Given the description of an element on the screen output the (x, y) to click on. 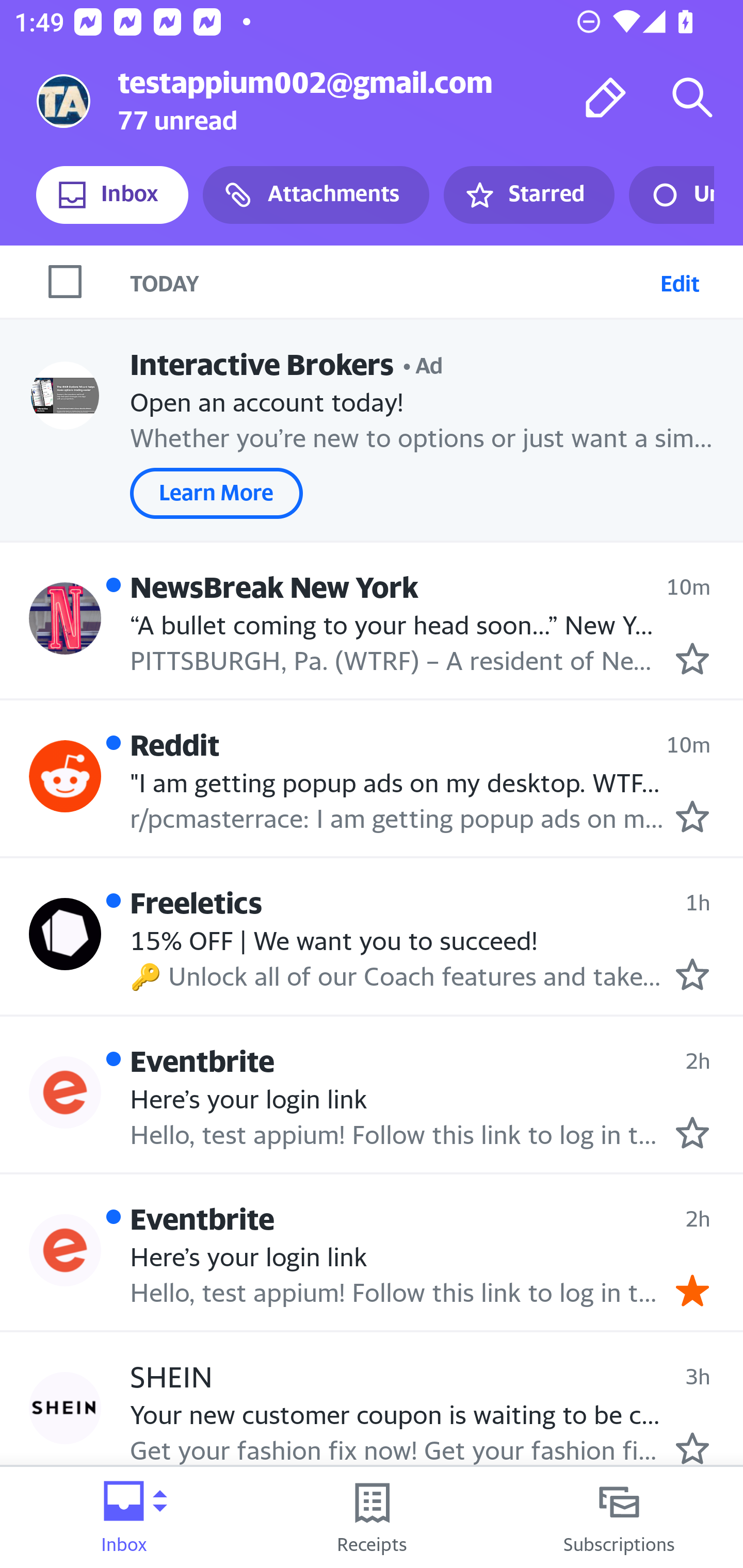
Compose (605, 97)
Search mail (692, 97)
Attachments (315, 195)
Starred (528, 195)
TODAY (391, 281)
Edit Select emails (679, 281)
Profile
NewsBreak New York (64, 617)
Mark as starred. (692, 659)
Profile
Reddit (64, 776)
Mark as starred. (692, 816)
Profile
Freeletics (64, 934)
Mark as starred. (692, 974)
Profile
Eventbrite (64, 1092)
Mark as starred. (692, 1132)
Profile
Eventbrite (64, 1249)
Remove star. (692, 1291)
Profile
SHEIN (64, 1408)
Mark as starred. (692, 1448)
Inbox Folder picker (123, 1517)
Receipts (371, 1517)
Subscriptions (619, 1517)
